Given the description of an element on the screen output the (x, y) to click on. 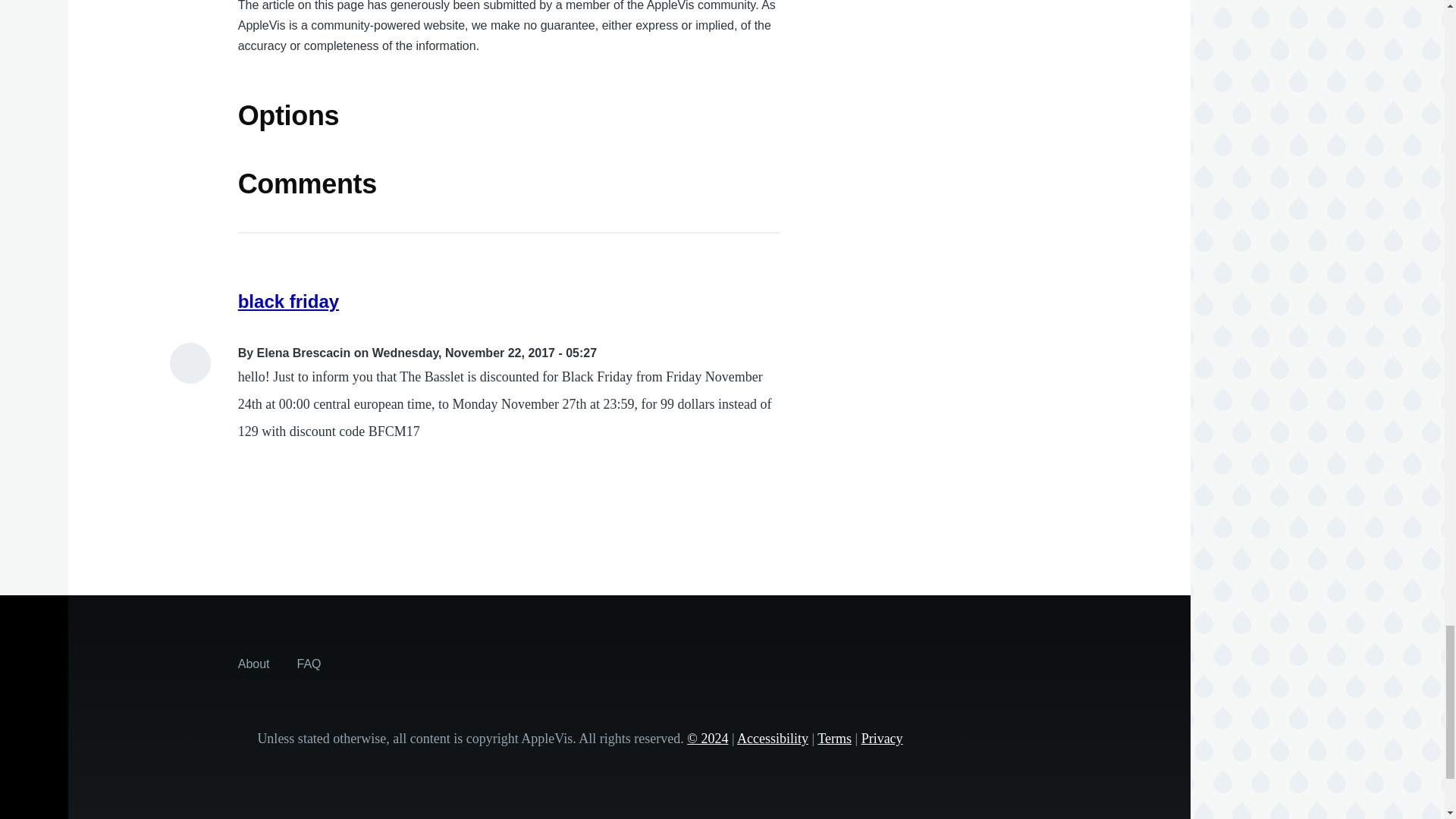
About (253, 663)
Terms (833, 738)
Accessibility (772, 738)
About (253, 663)
black friday (288, 301)
Privacy (881, 738)
